Given the description of an element on the screen output the (x, y) to click on. 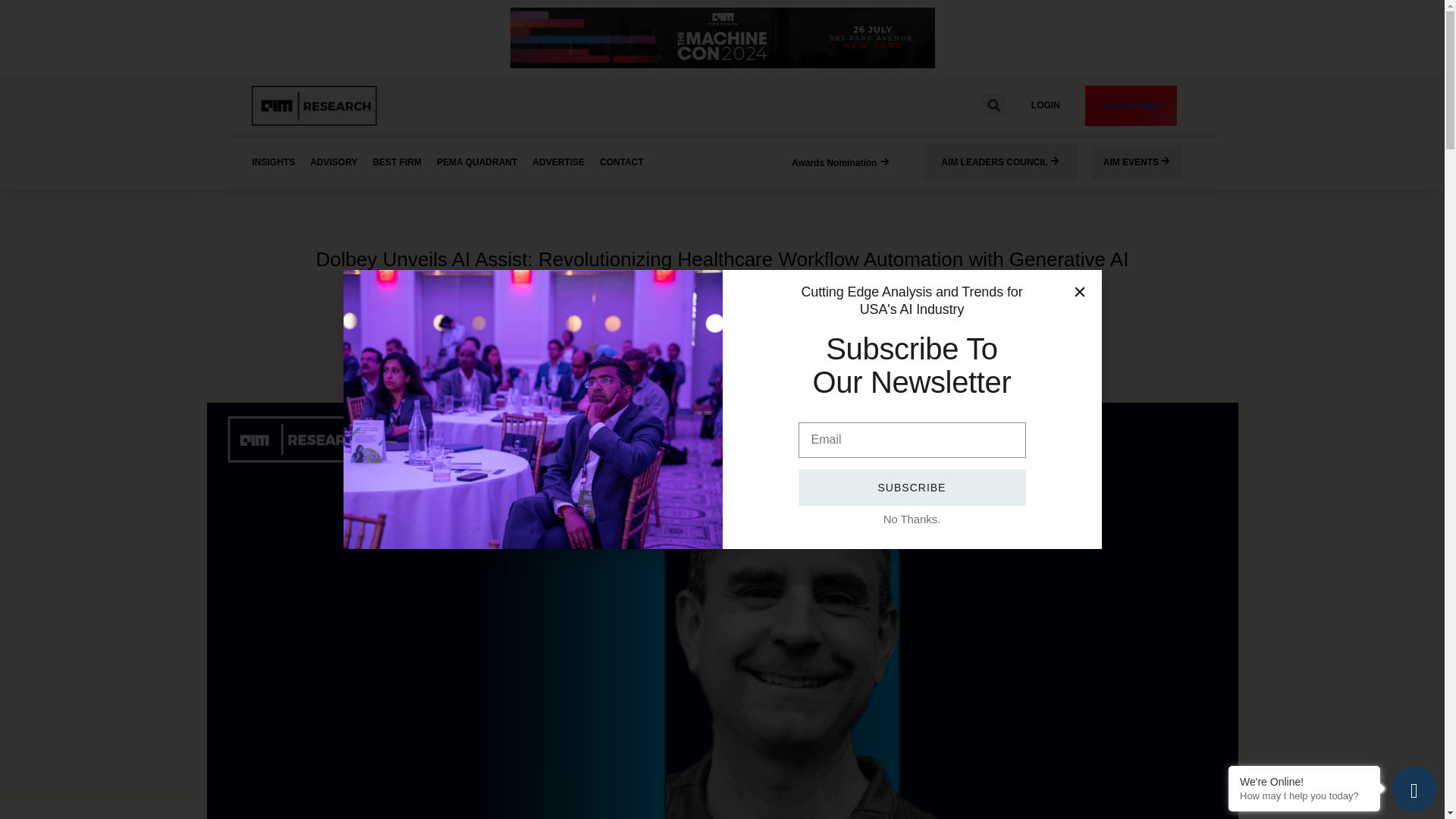
AIM LEADERS COUNCIL (1000, 162)
CONTACT (622, 161)
SUBSCRIBE (1130, 105)
PEMA QUADRANT (477, 161)
Awards Nomination (840, 163)
We're Online! (1304, 781)
By Anshika Mathews (632, 293)
ADVISORY (333, 161)
GENERATIVE AI (721, 326)
LOGIN (1045, 105)
BEST FIRM (396, 161)
How may I help you today? (1304, 795)
INSIGHTS (272, 161)
ADVERTISE (557, 161)
AIM EVENTS (1137, 162)
